Given the description of an element on the screen output the (x, y) to click on. 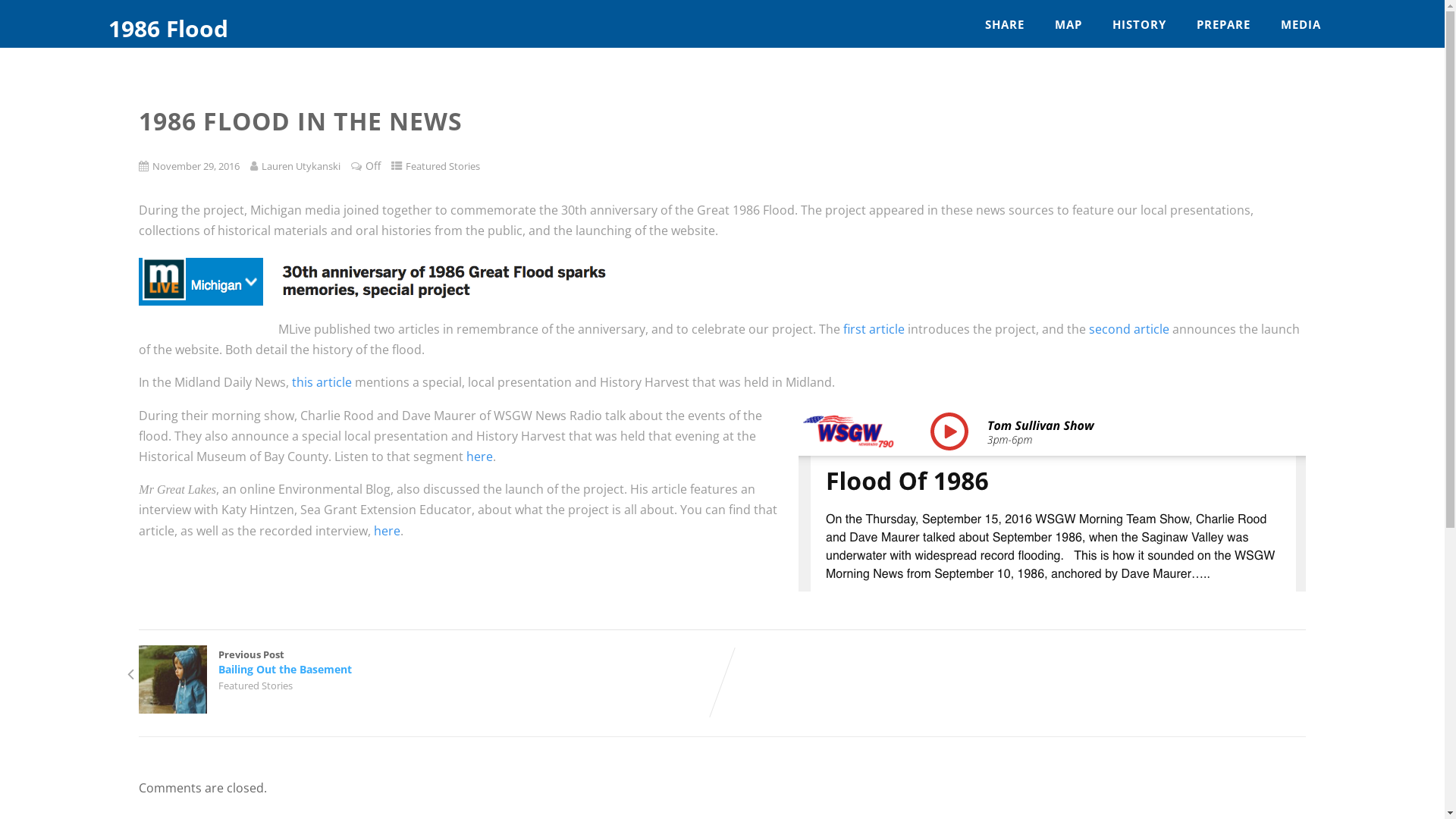
Featured Stories Element type: text (442, 165)
here Element type: text (479, 456)
1986 Flood Element type: text (168, 27)
second article Element type: text (1128, 328)
Lauren Utykanski Element type: text (300, 165)
here Element type: text (386, 530)
this article Element type: text (321, 381)
MEDIA Element type: text (1300, 24)
November 29, 2016 Element type: text (195, 165)
HISTORY Element type: text (1139, 24)
PREPARE Element type: text (1223, 24)
first article Element type: text (873, 328)
SHARE Element type: text (1004, 24)
Previous Post
Bailing Out the Basement Element type: text (429, 661)
MAP Element type: text (1068, 24)
Featured Stories Element type: text (255, 685)
